Given the description of an element on the screen output the (x, y) to click on. 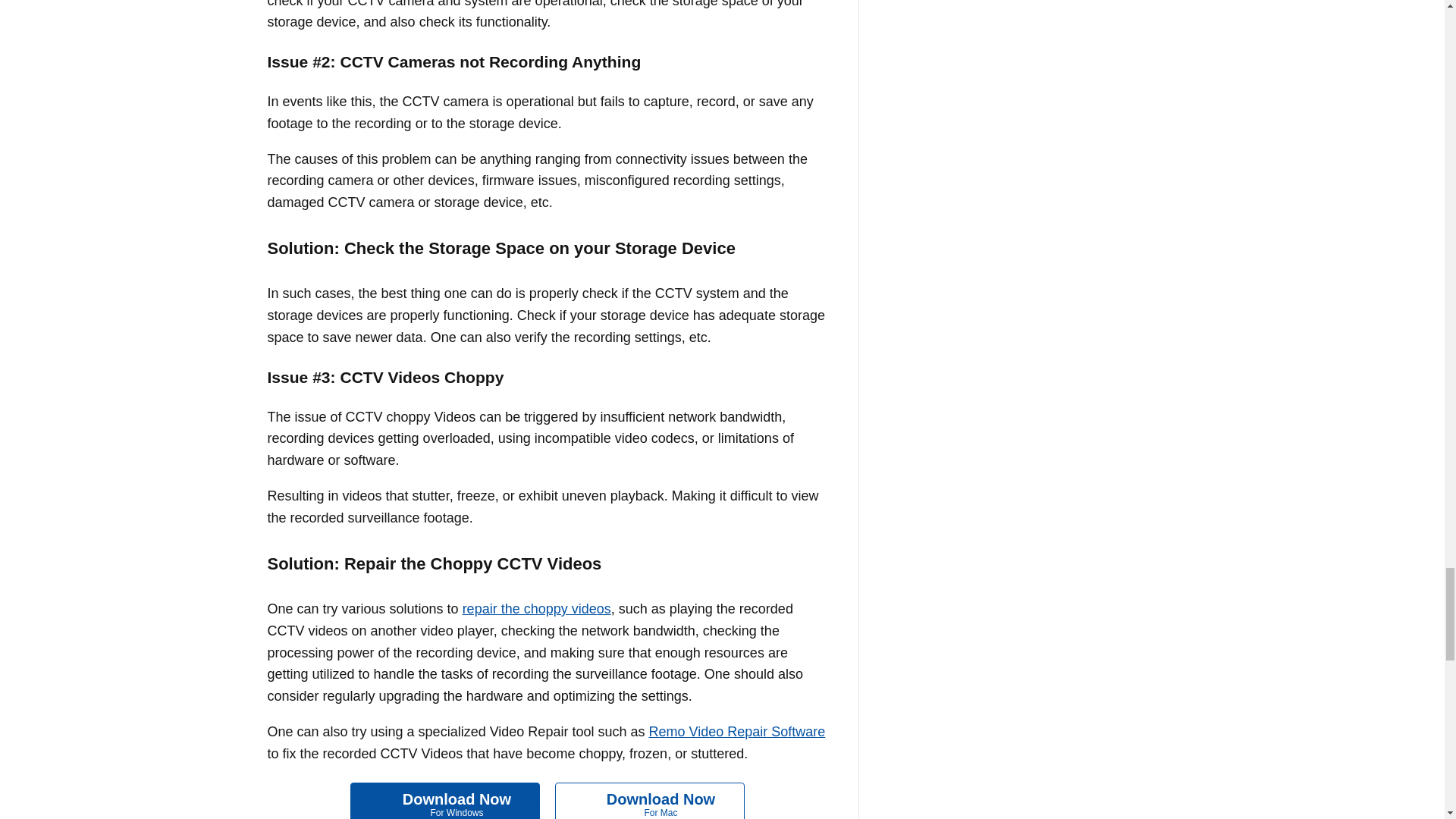
Remo Video Repair Software (736, 731)
repair the choppy videos (445, 800)
